Given the description of an element on the screen output the (x, y) to click on. 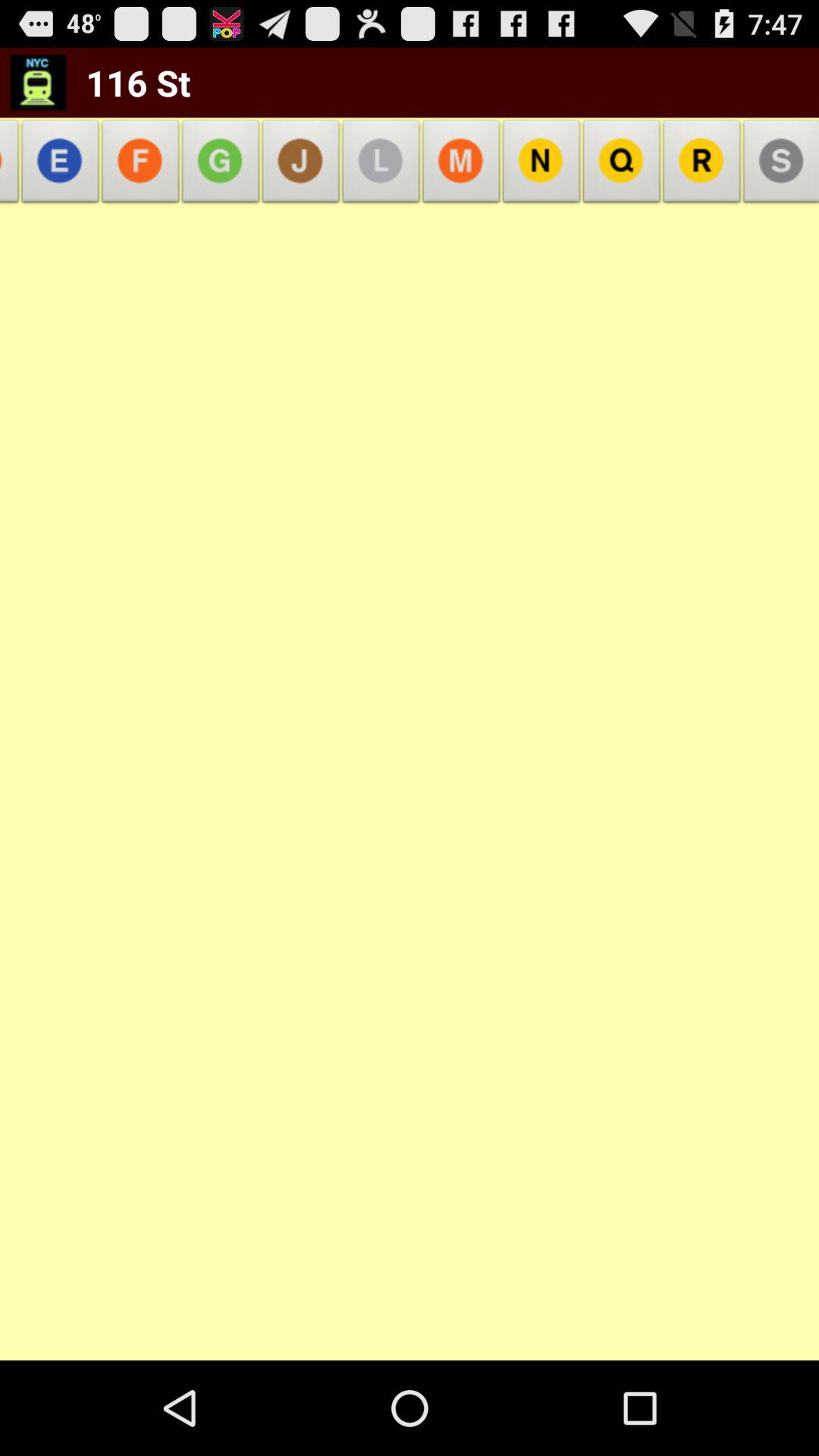
jump until the 116 st app (127, 82)
